Given the description of an element on the screen output the (x, y) to click on. 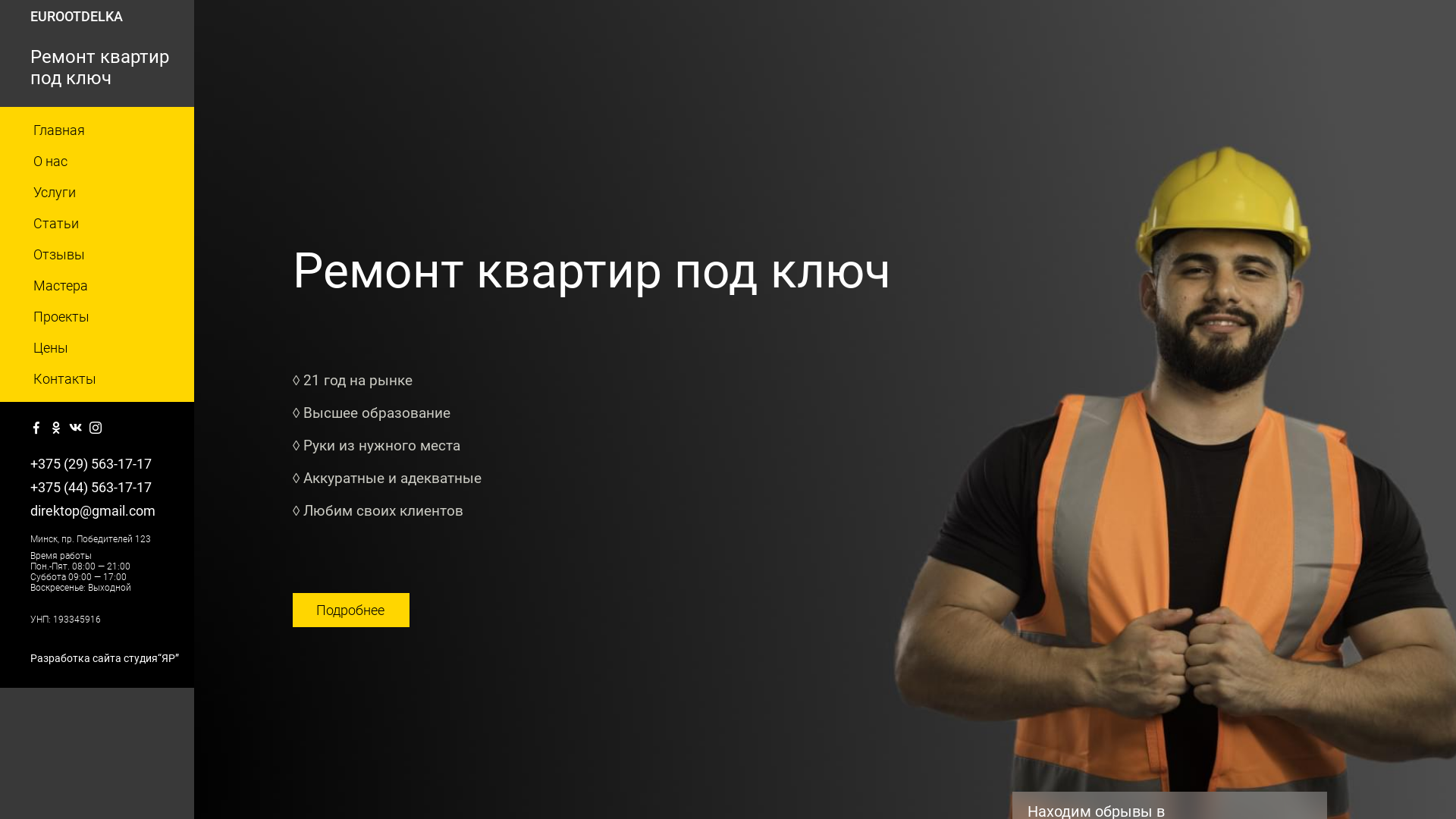
+375 (29) 563-17-17 Element type: text (106, 463)
+375 (44) 563-17-17 Element type: text (106, 487)
direktop@gmail.com Element type: text (106, 510)
